Given the description of an element on the screen output the (x, y) to click on. 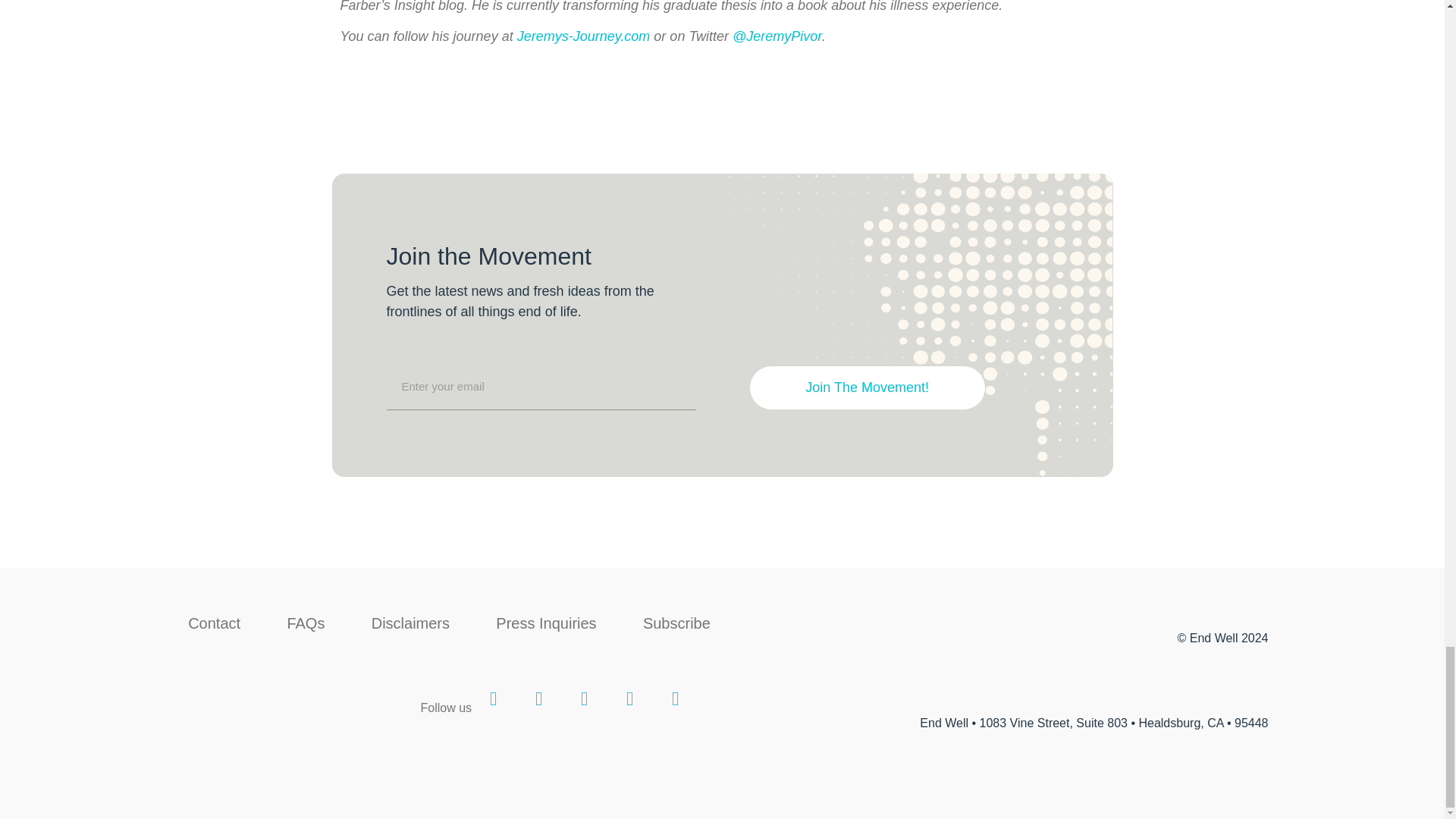
Contact (213, 623)
FAQs (305, 623)
Jeremys-Journey.com (583, 36)
Join The Movement! (867, 387)
Press Inquiries (546, 623)
Disclaimers (410, 623)
